Given the description of an element on the screen output the (x, y) to click on. 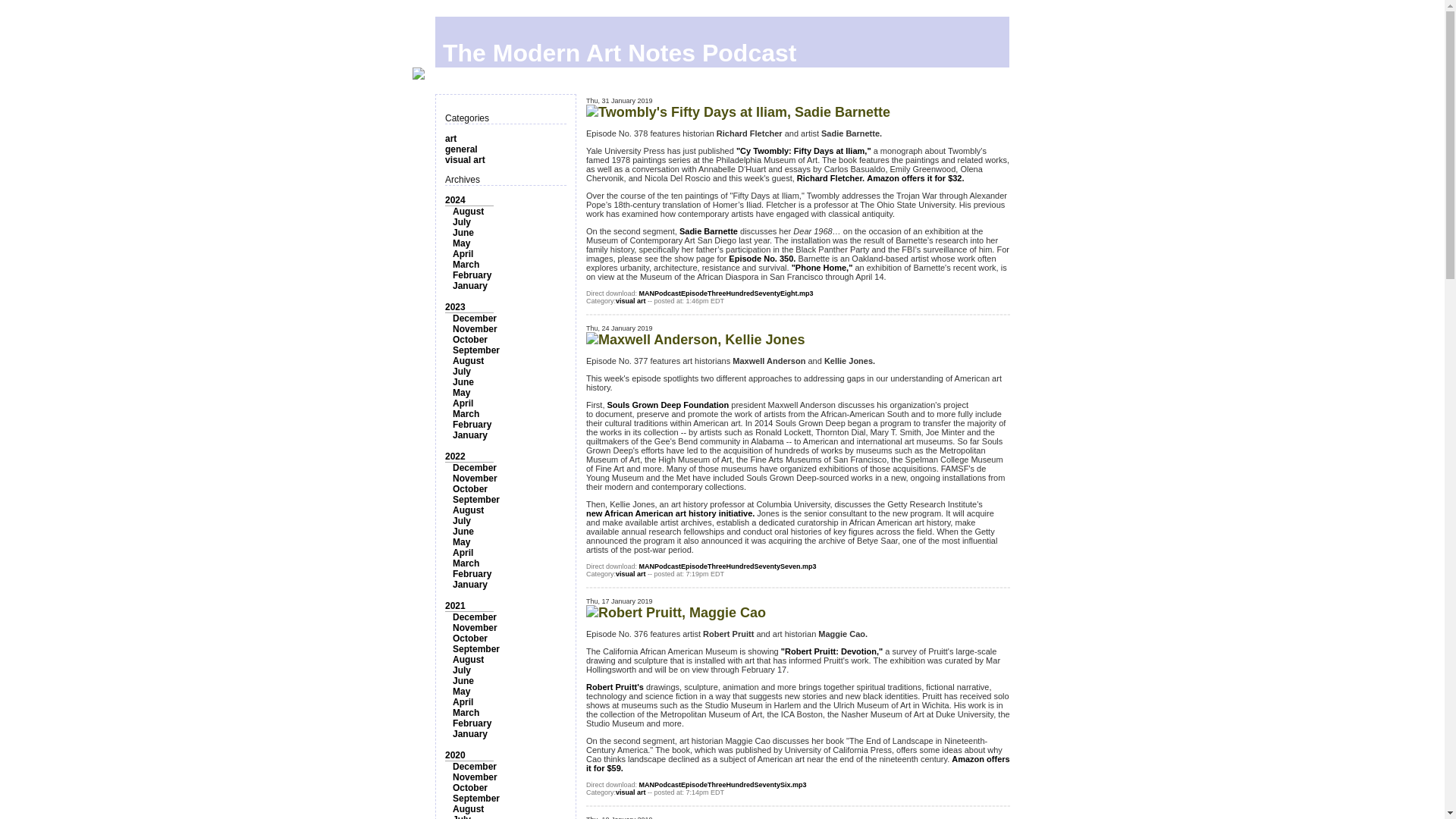
January (469, 434)
November (474, 478)
July (461, 520)
general (461, 149)
art (451, 138)
May (461, 542)
2023 (455, 307)
September (475, 349)
March (465, 562)
January (469, 584)
November (474, 328)
December (474, 616)
August (467, 360)
July (461, 222)
February (472, 424)
